Given the description of an element on the screen output the (x, y) to click on. 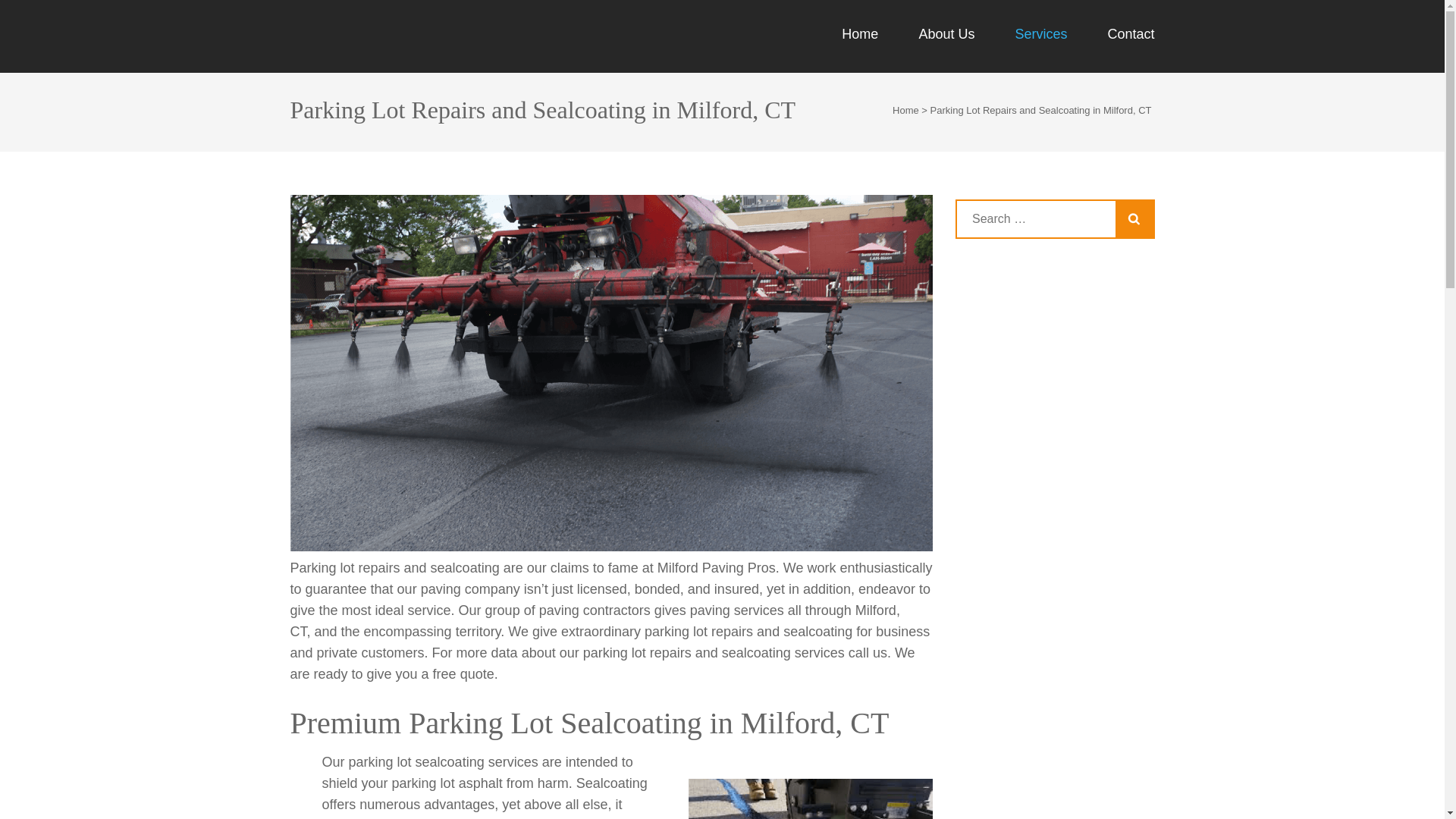
Search (1134, 218)
Search (1134, 218)
About Us (946, 47)
Search (1134, 218)
Services (1040, 47)
Contact (1130, 47)
Home (905, 110)
